Given the description of an element on the screen output the (x, y) to click on. 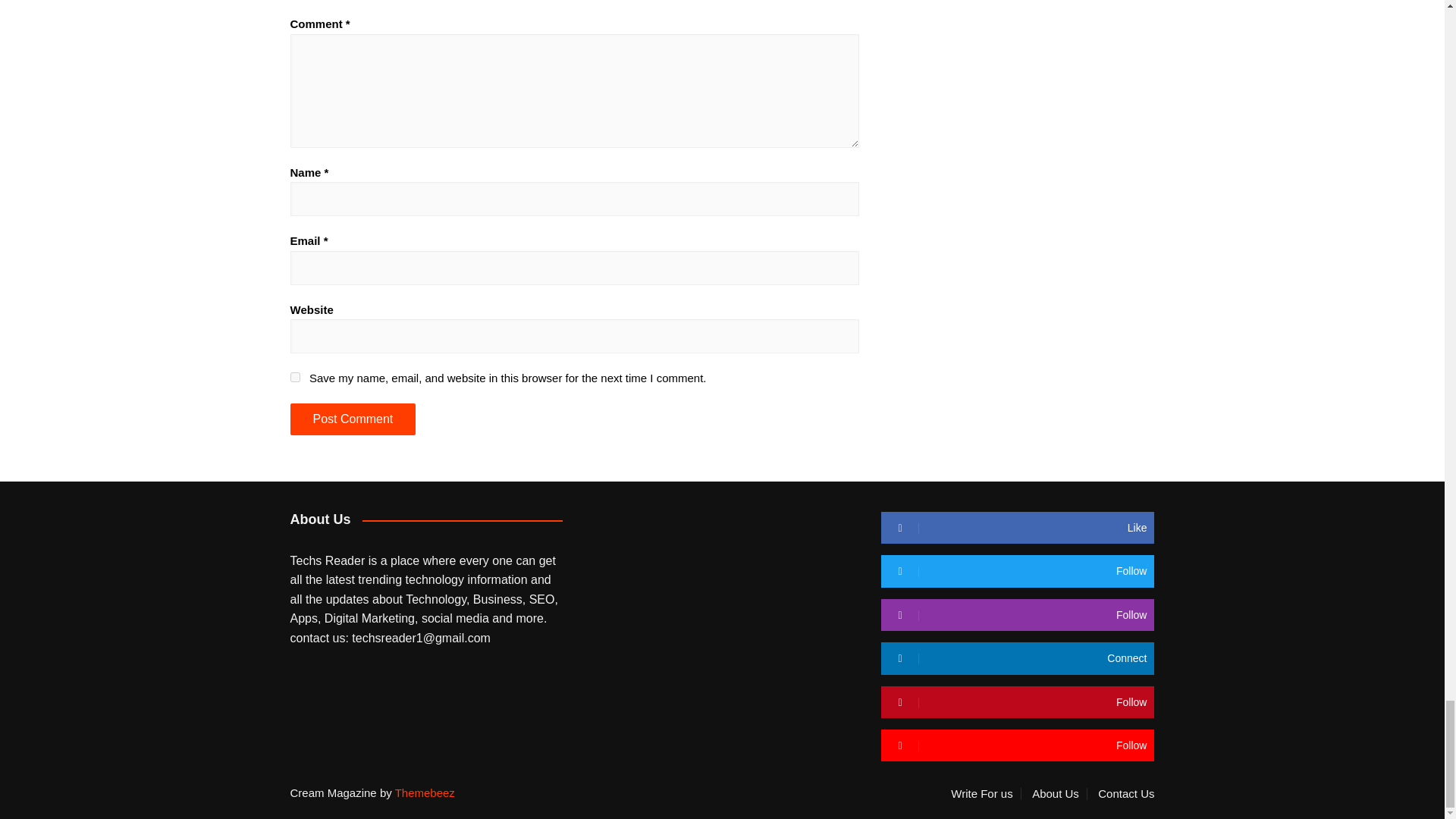
Download This Theme (985, 793)
Post Comment (351, 418)
yes (294, 377)
